Given the description of an element on the screen output the (x, y) to click on. 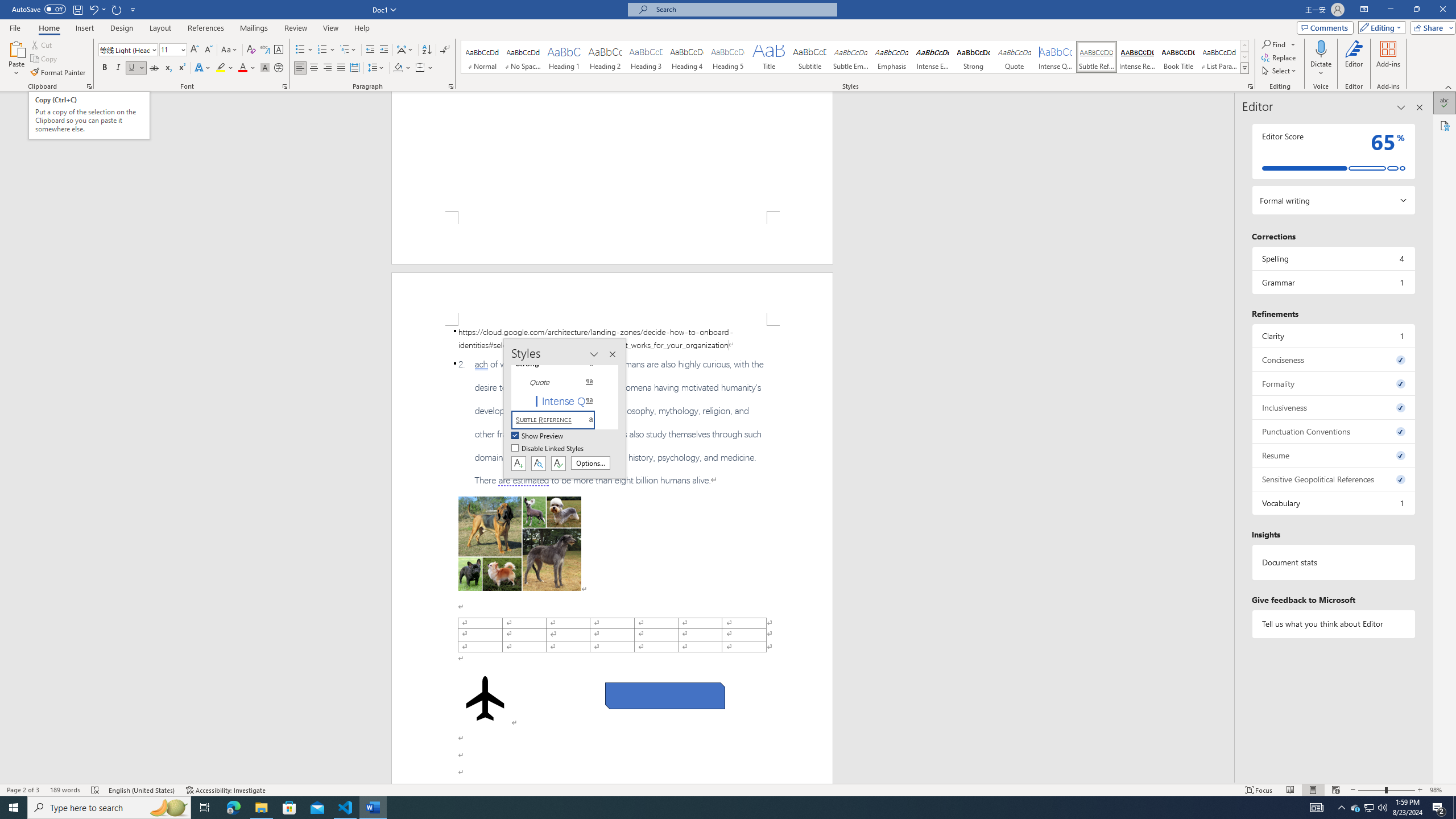
Undo Style (96, 9)
Intense Reference (1136, 56)
Clarity, 1 issue. Press space or enter to review items. (1333, 335)
Font Color Automatic (241, 67)
